Given the description of an element on the screen output the (x, y) to click on. 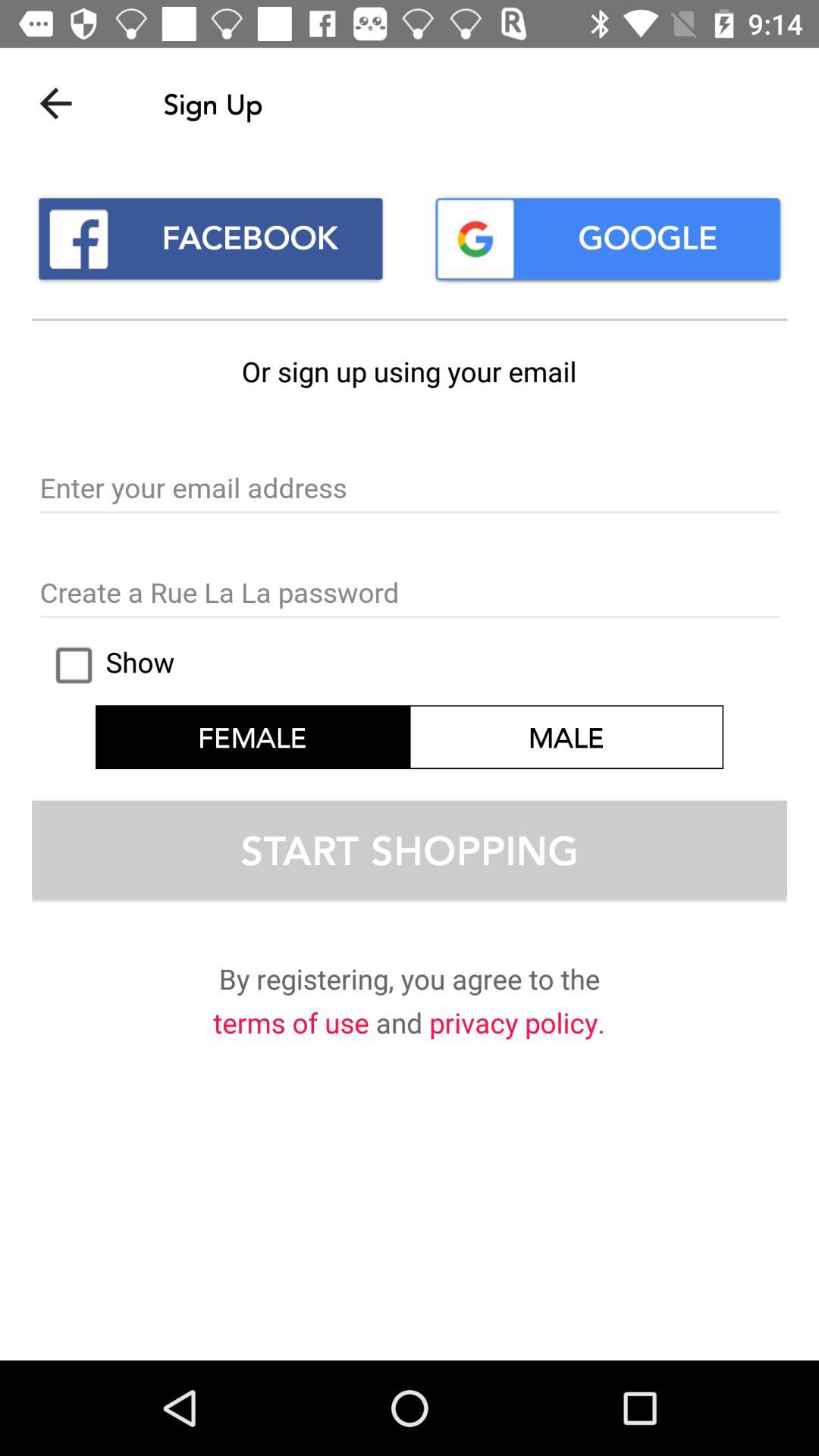
press the icon below the sign up item (607, 238)
